Given the description of an element on the screen output the (x, y) to click on. 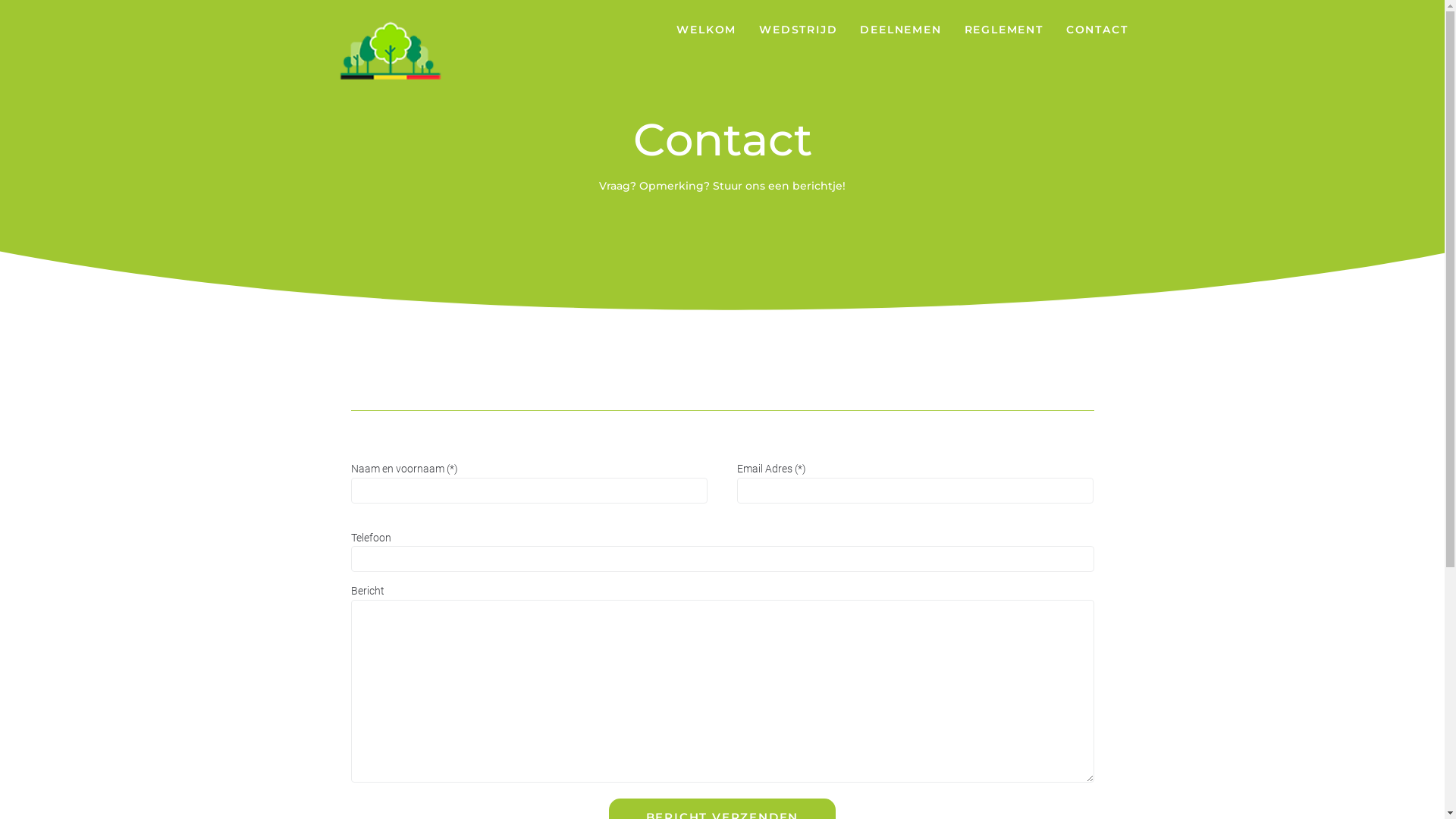
REGLEMENT Element type: text (1003, 29)
WELKOM Element type: text (706, 29)
CONTACT Element type: text (1096, 29)
WEDSTRIJD Element type: text (797, 29)
DEELNEMEN Element type: text (900, 29)
